Given the description of an element on the screen output the (x, y) to click on. 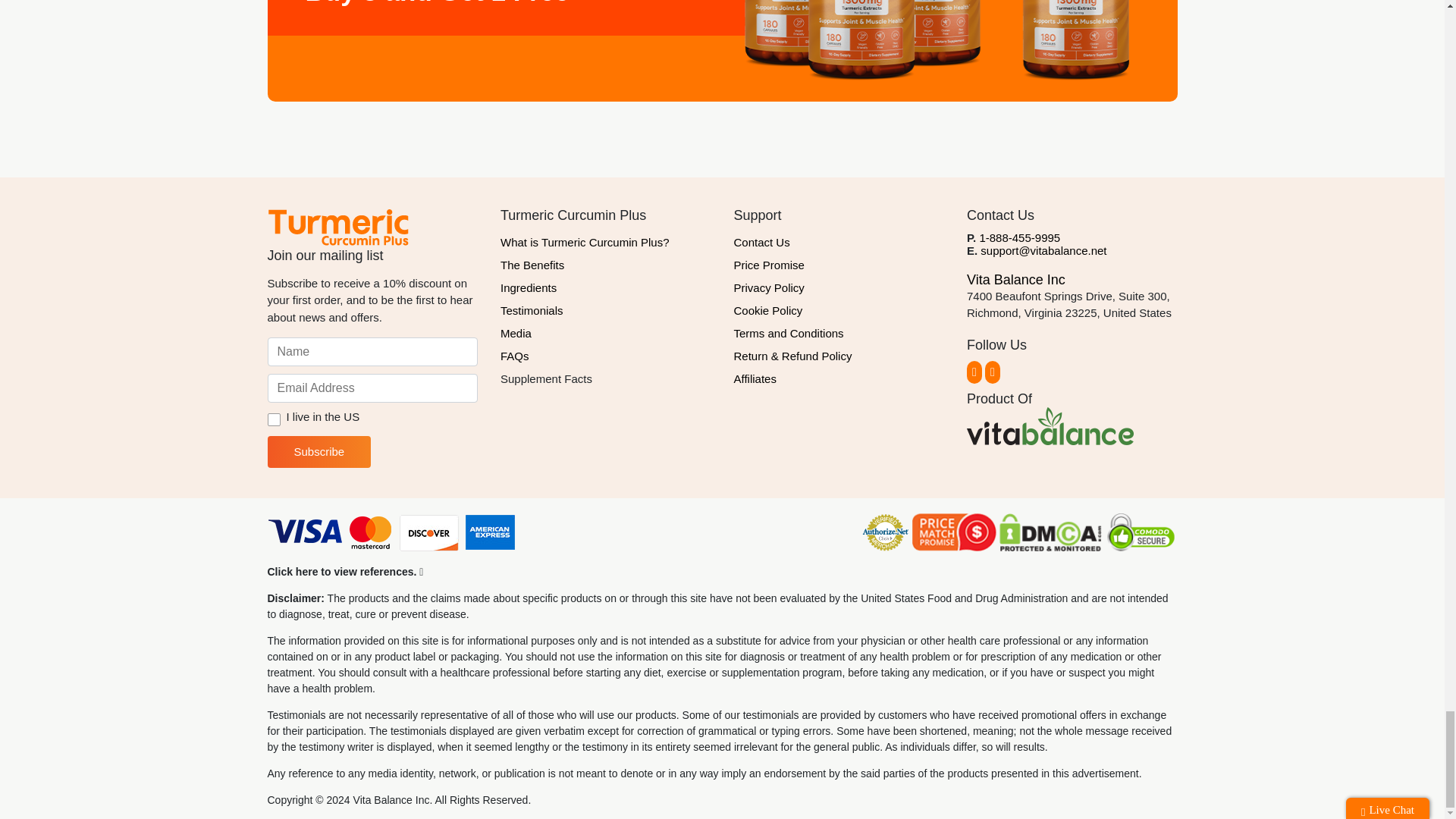
Turmeric Curcumin Plus Official Logo (336, 226)
The Benefits (605, 264)
Ingredients (605, 287)
Subscribe (318, 451)
DMCA.com Protection Status (1049, 533)
FAQs (605, 355)
Vita Balance Official Logo (1050, 426)
What is Turmeric Curcumin Plus? (605, 241)
Price Promise (838, 264)
Testimonials (605, 310)
Contact Us (838, 241)
Media (605, 333)
